Given the description of an element on the screen output the (x, y) to click on. 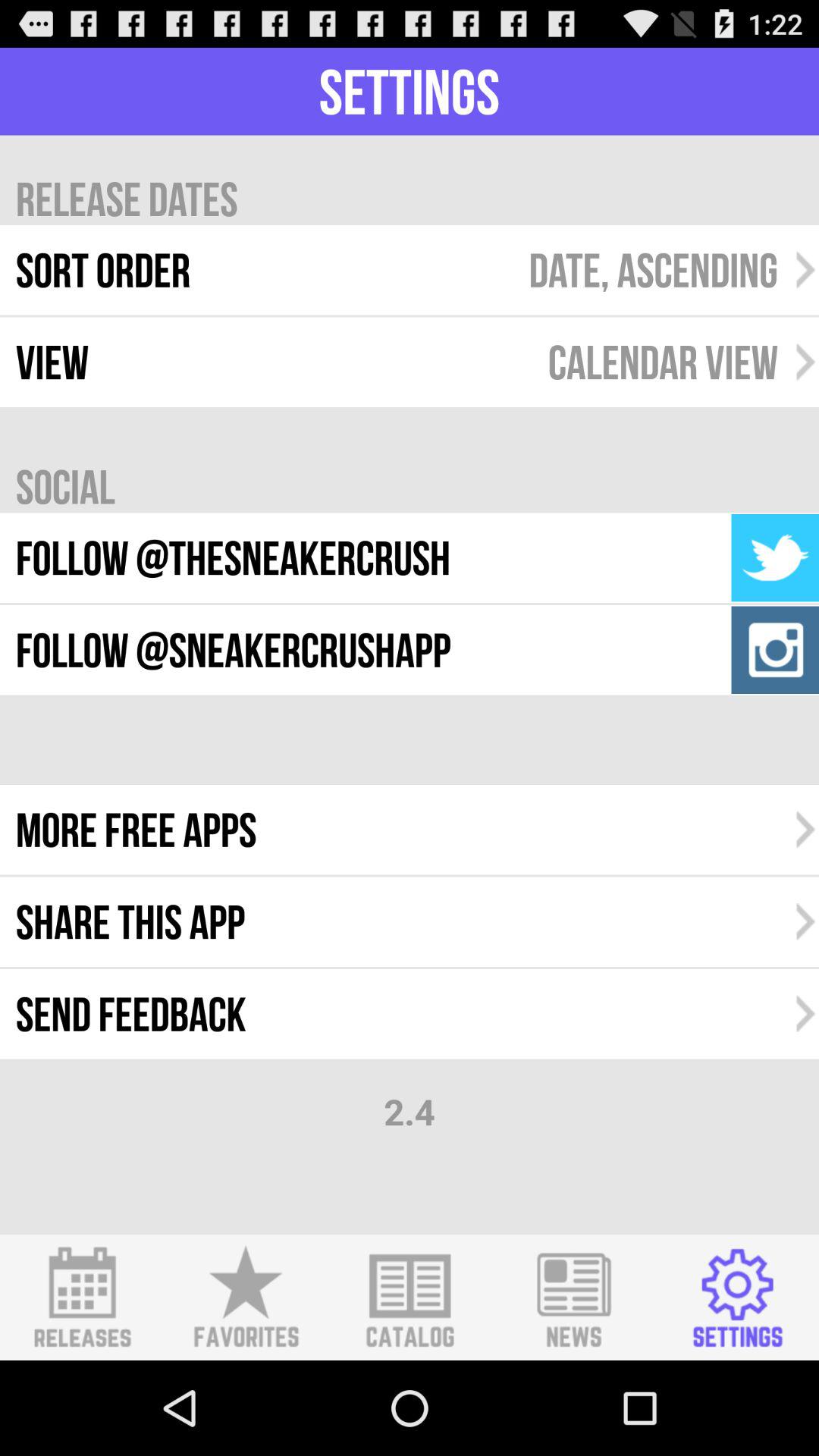
click app above the social item (663, 362)
